Given the description of an element on the screen output the (x, y) to click on. 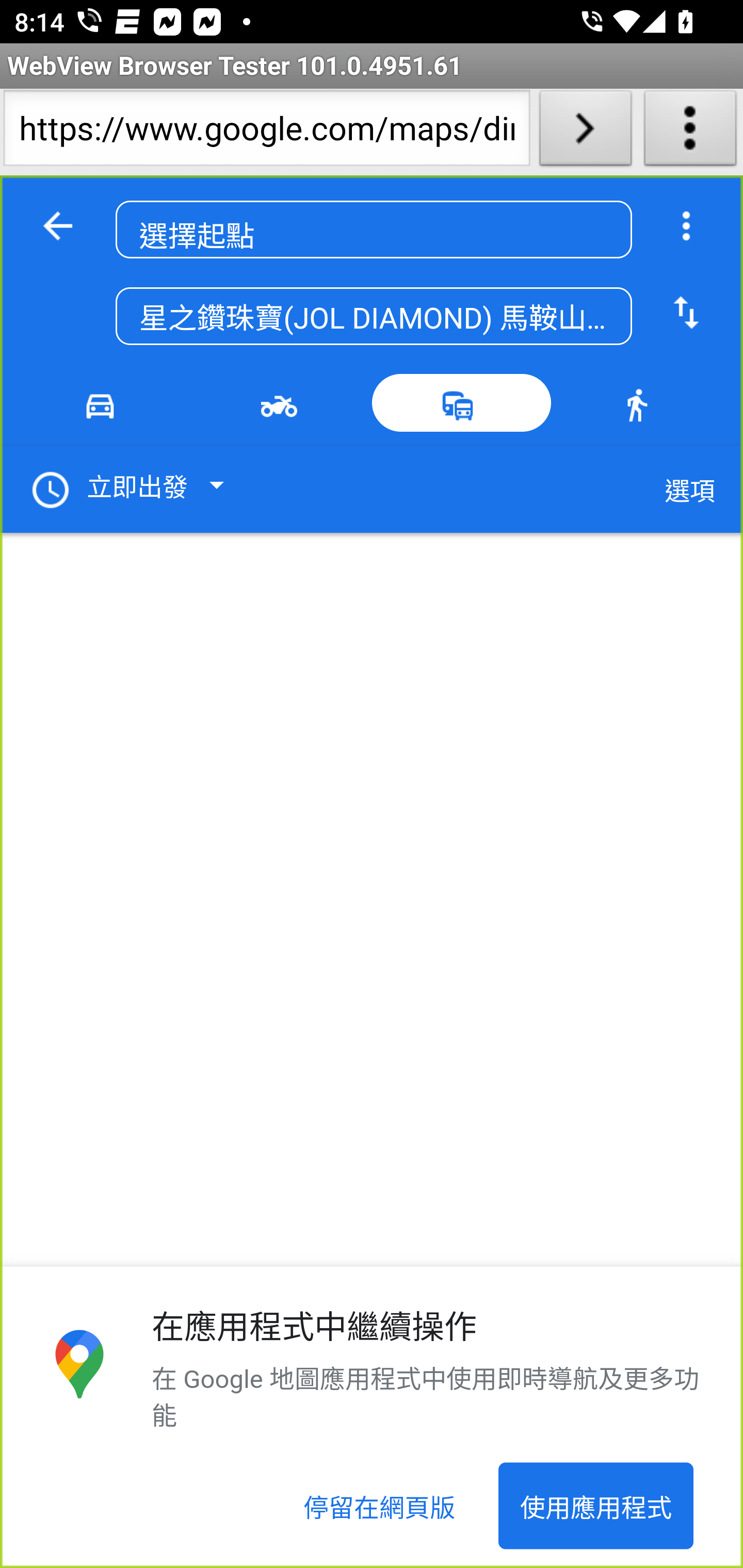
Load URL (585, 132)
About WebView (690, 132)
返回 (58, 226)
更多選項 (686, 226)
將起點和終點對調 (686, 313)
星之鑽珠寶(JOL DIAMOND) 馬鞍山馬鞍山廣場265C鋪, 沙田 (373, 316)
駕駛模式 (104, 402)
機車模式 (282, 402)
大眾運輸模式 (462, 402)
步行模式 (640, 402)
立即出發 (134, 490)
選項 (689, 490)
停留在網頁版 (379, 1505)
使用應用程式 (595, 1505)
